Given the description of an element on the screen output the (x, y) to click on. 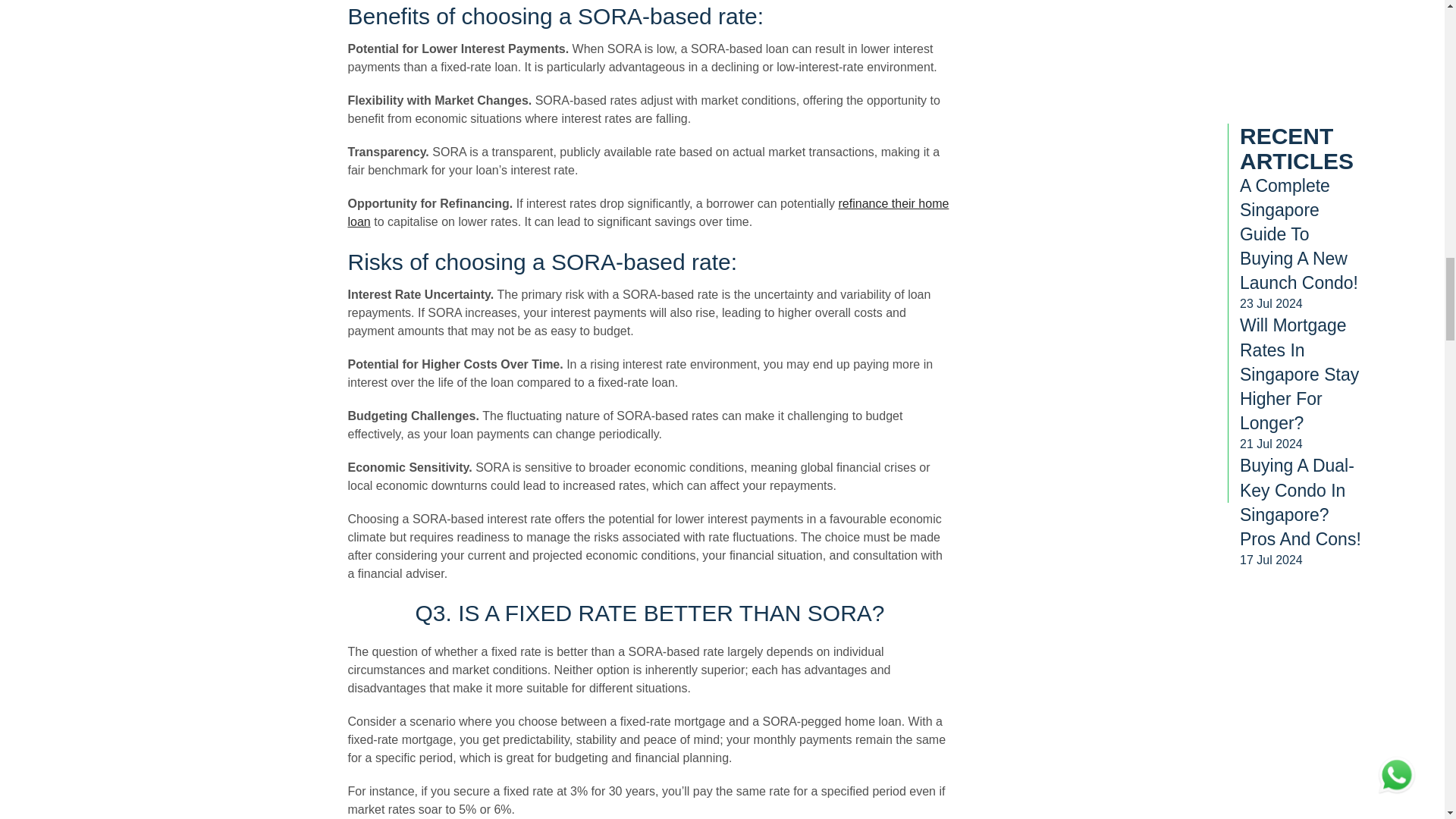
refinance their home loan (648, 212)
